Given the description of an element on the screen output the (x, y) to click on. 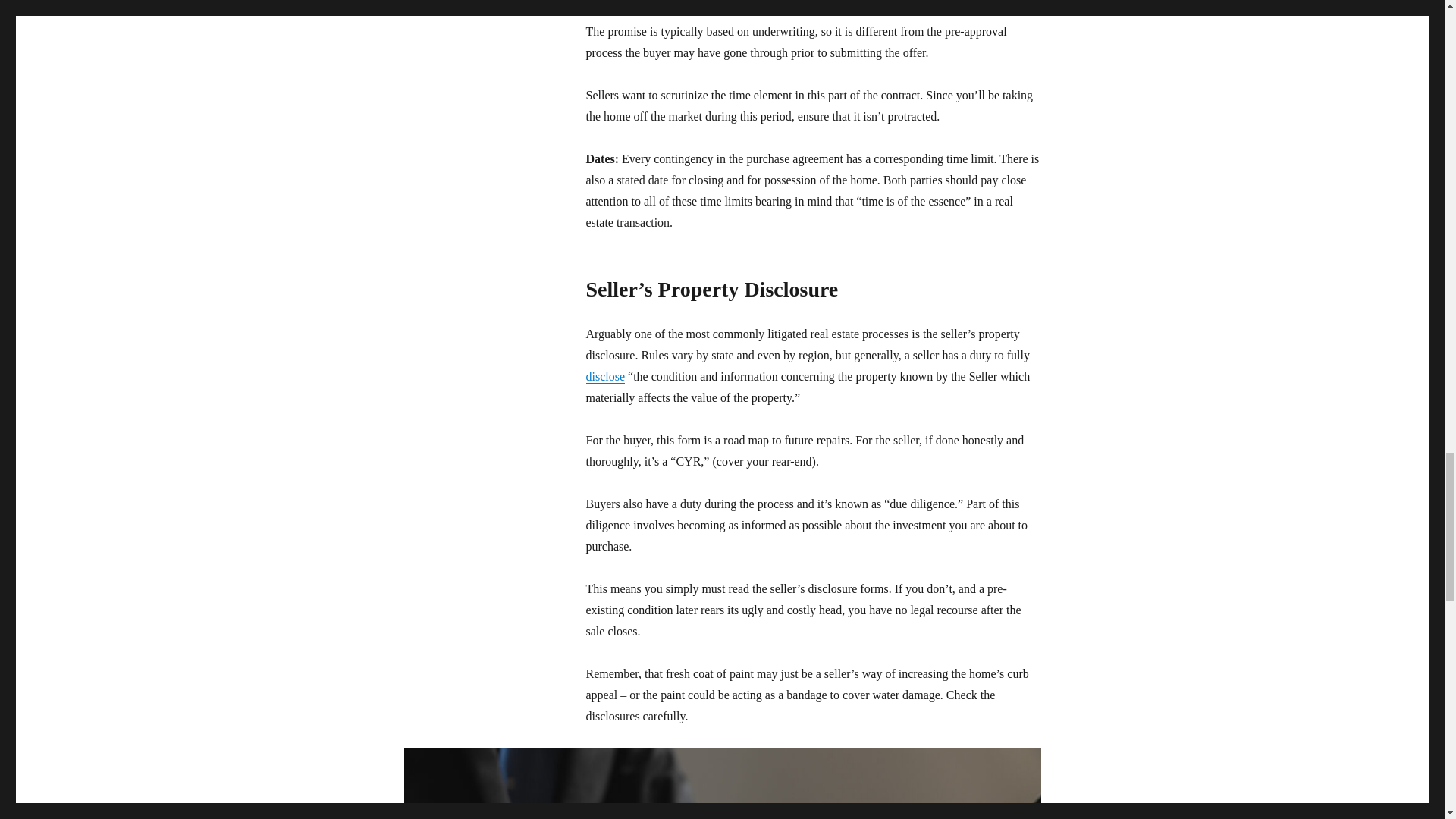
disclose (604, 376)
